Given the description of an element on the screen output the (x, y) to click on. 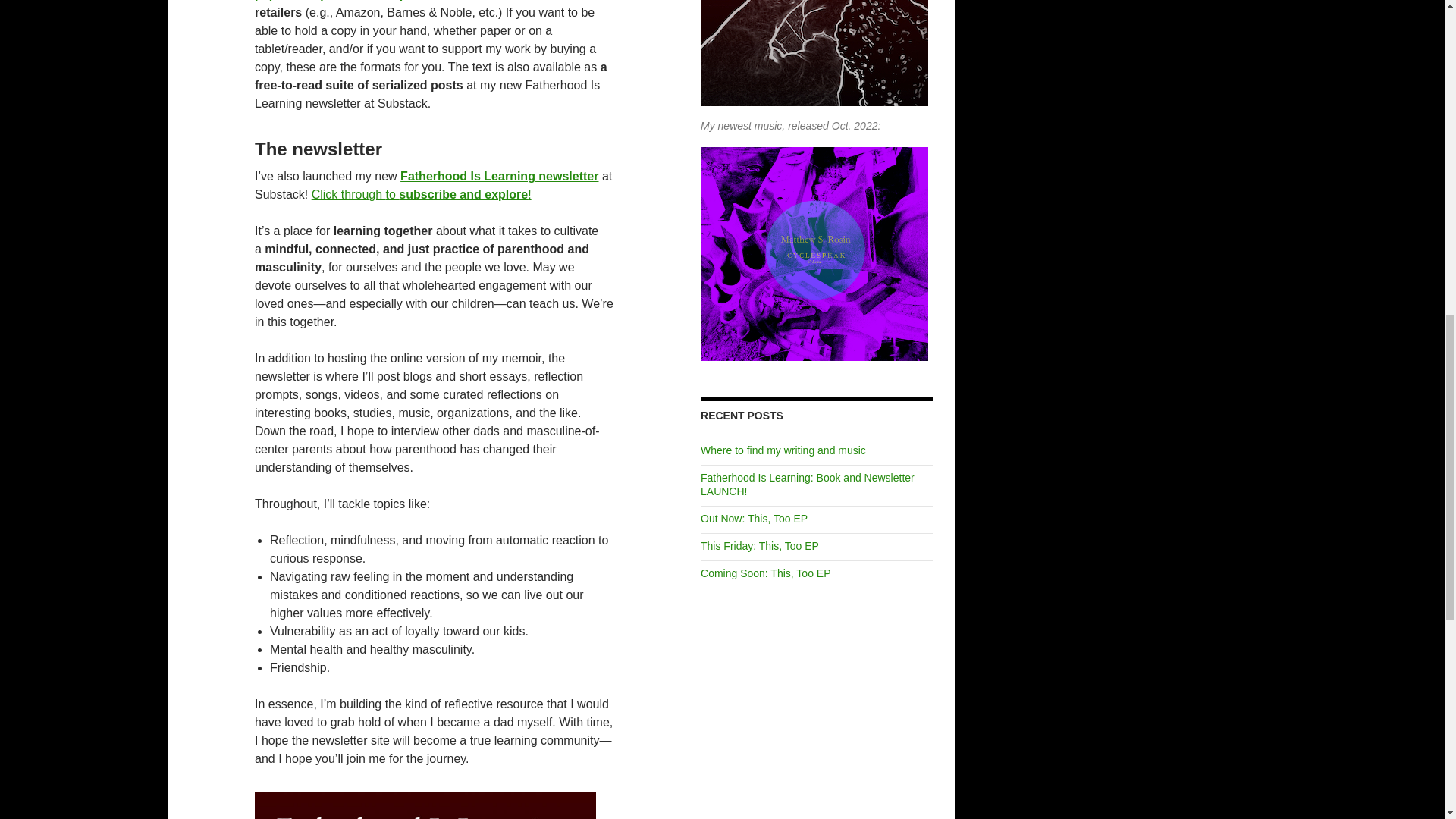
Fatherhood Is Learning newsletter (499, 175)
Click through (348, 194)
o subscribe and explore! (459, 194)
